Given the description of an element on the screen output the (x, y) to click on. 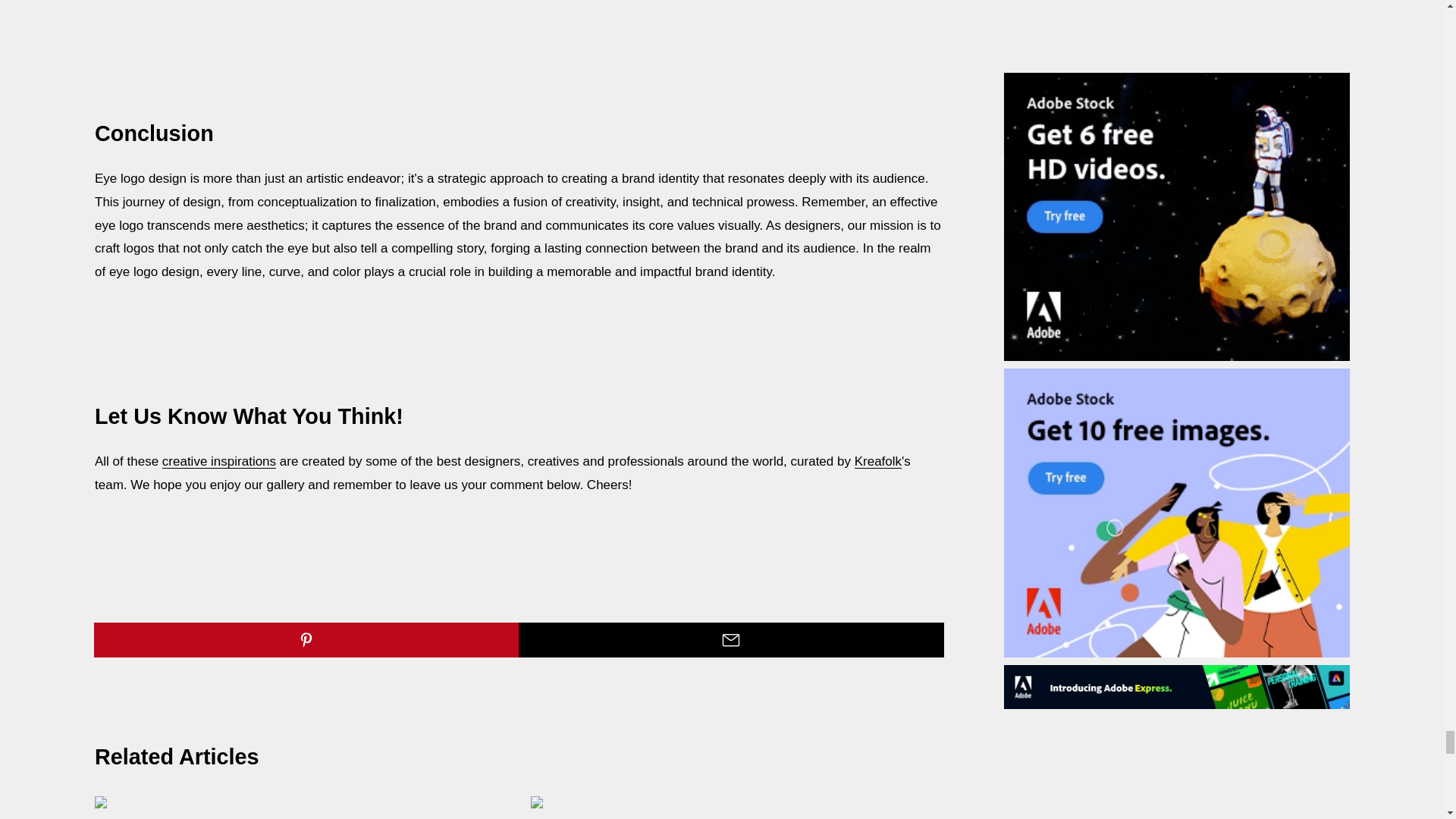
design inspirations (218, 461)
Kreafolk (877, 461)
creative inspirations (218, 461)
